Given the description of an element on the screen output the (x, y) to click on. 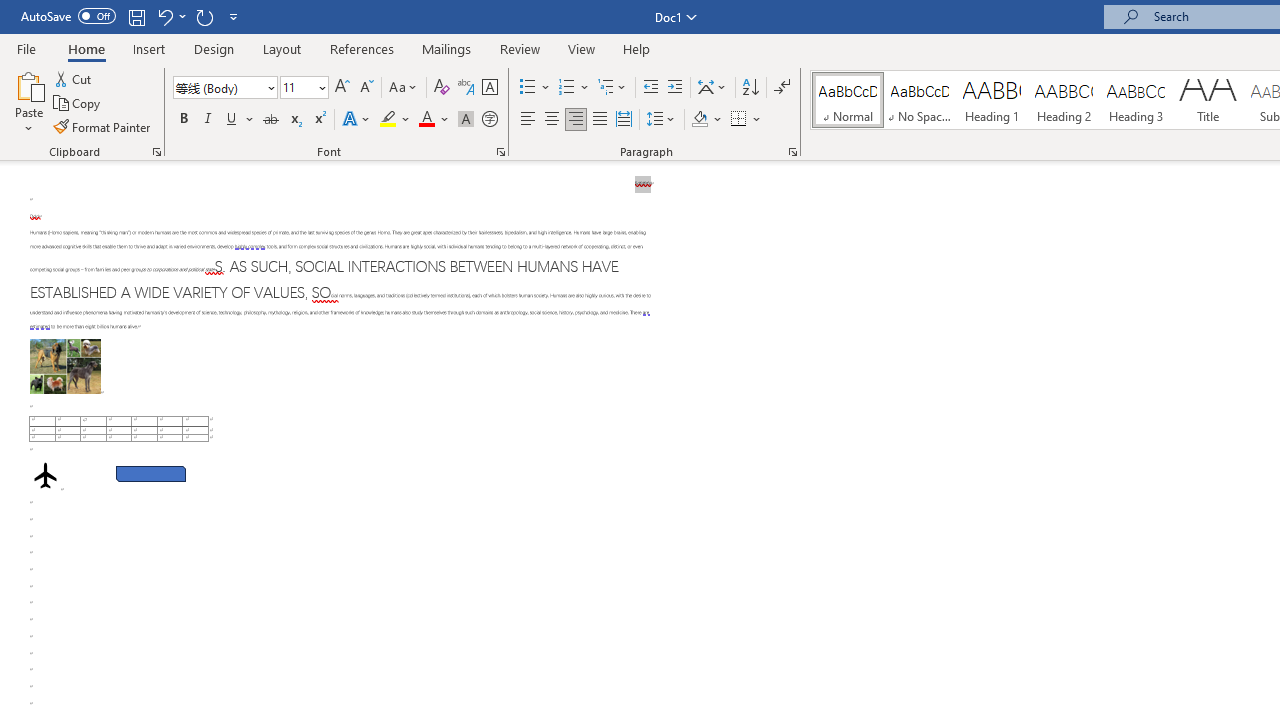
Heading 3 (1135, 100)
